Given the description of an element on the screen output the (x, y) to click on. 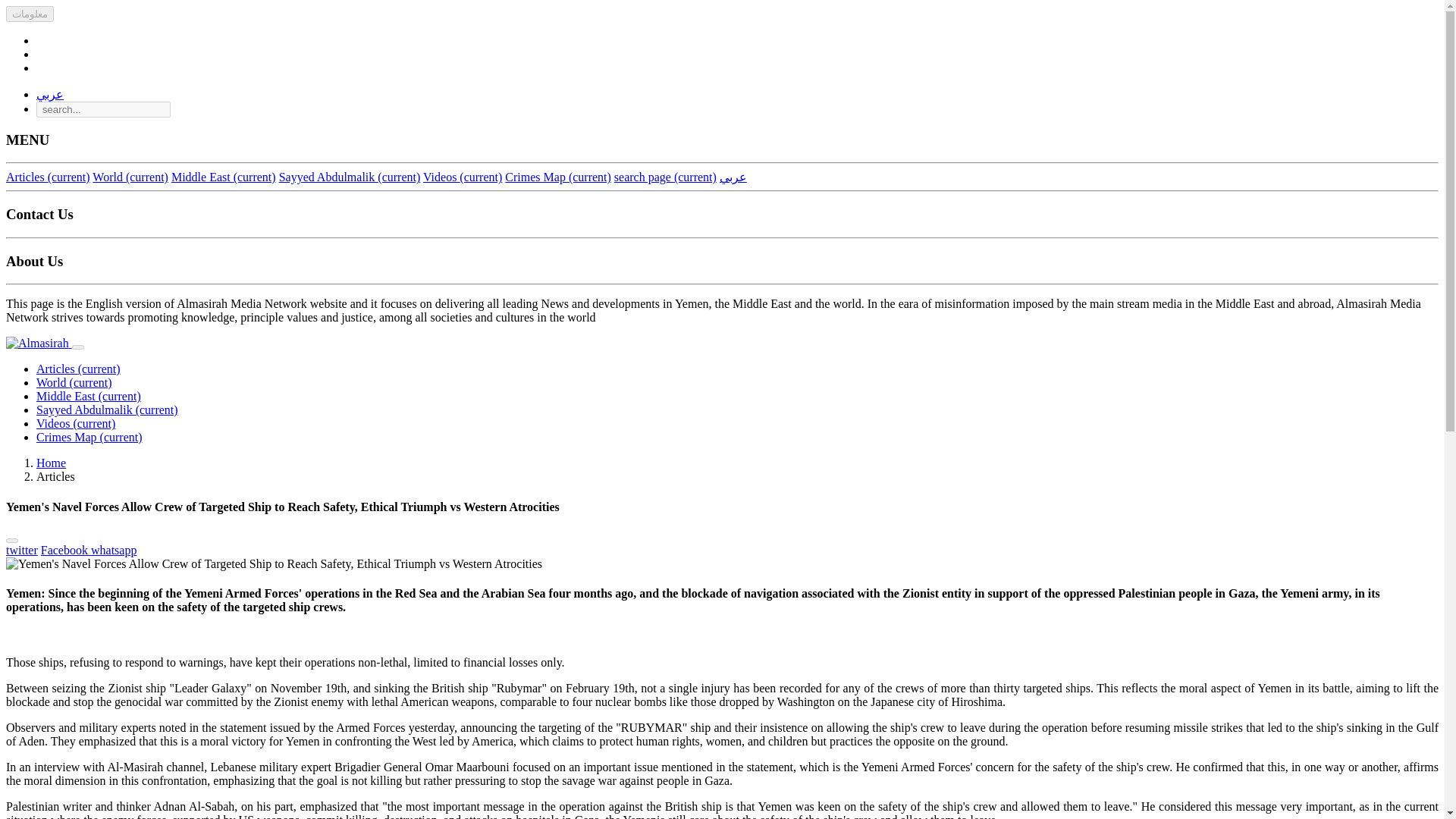
whatsapp (113, 549)
Home (50, 462)
twitter (21, 549)
Facebook (65, 549)
